Given the description of an element on the screen output the (x, y) to click on. 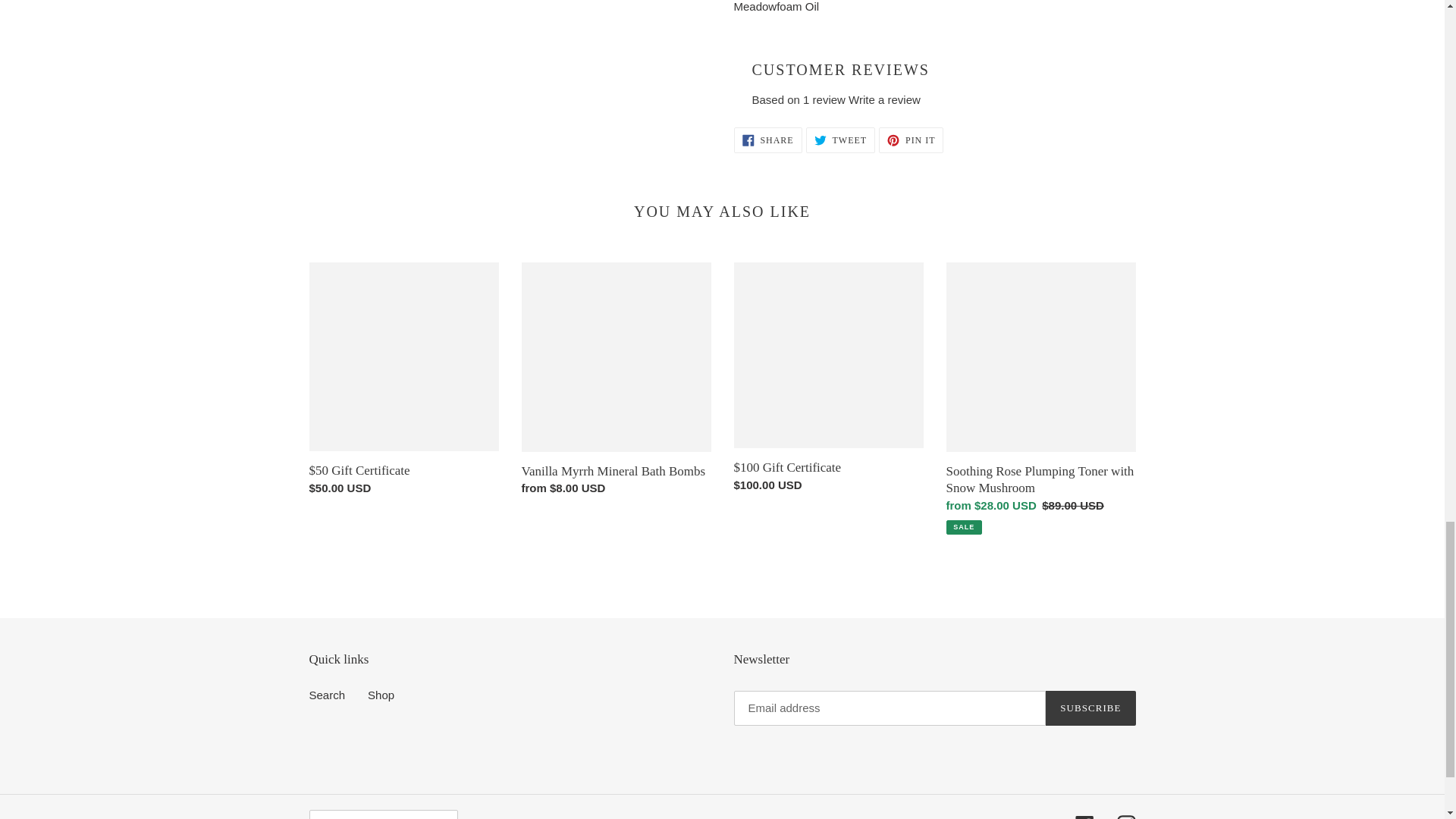
Write a review (884, 99)
